Given the description of an element on the screen output the (x, y) to click on. 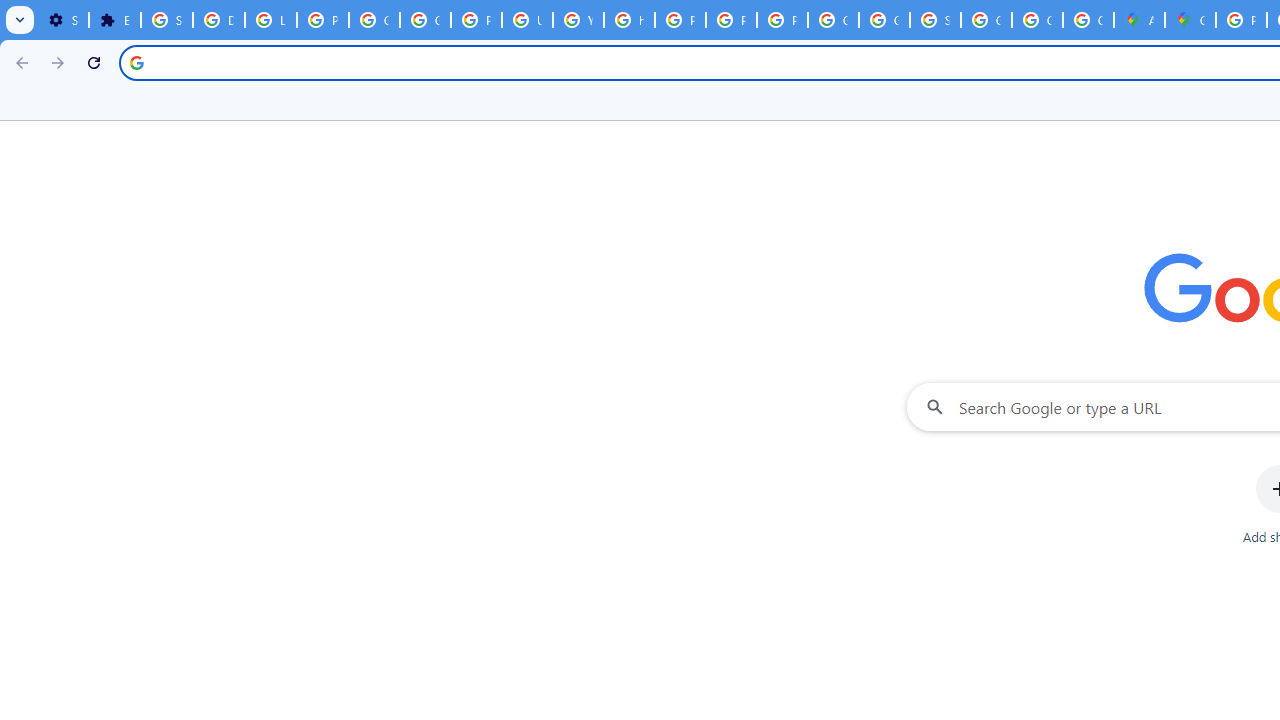
Settings - On startup (63, 20)
Learn how to find your photos - Google Photos Help (270, 20)
Google Maps (1189, 20)
Delete photos & videos - Computer - Google Photos Help (218, 20)
https://scholar.google.com/ (629, 20)
YouTube (578, 20)
